Given the description of an element on the screen output the (x, y) to click on. 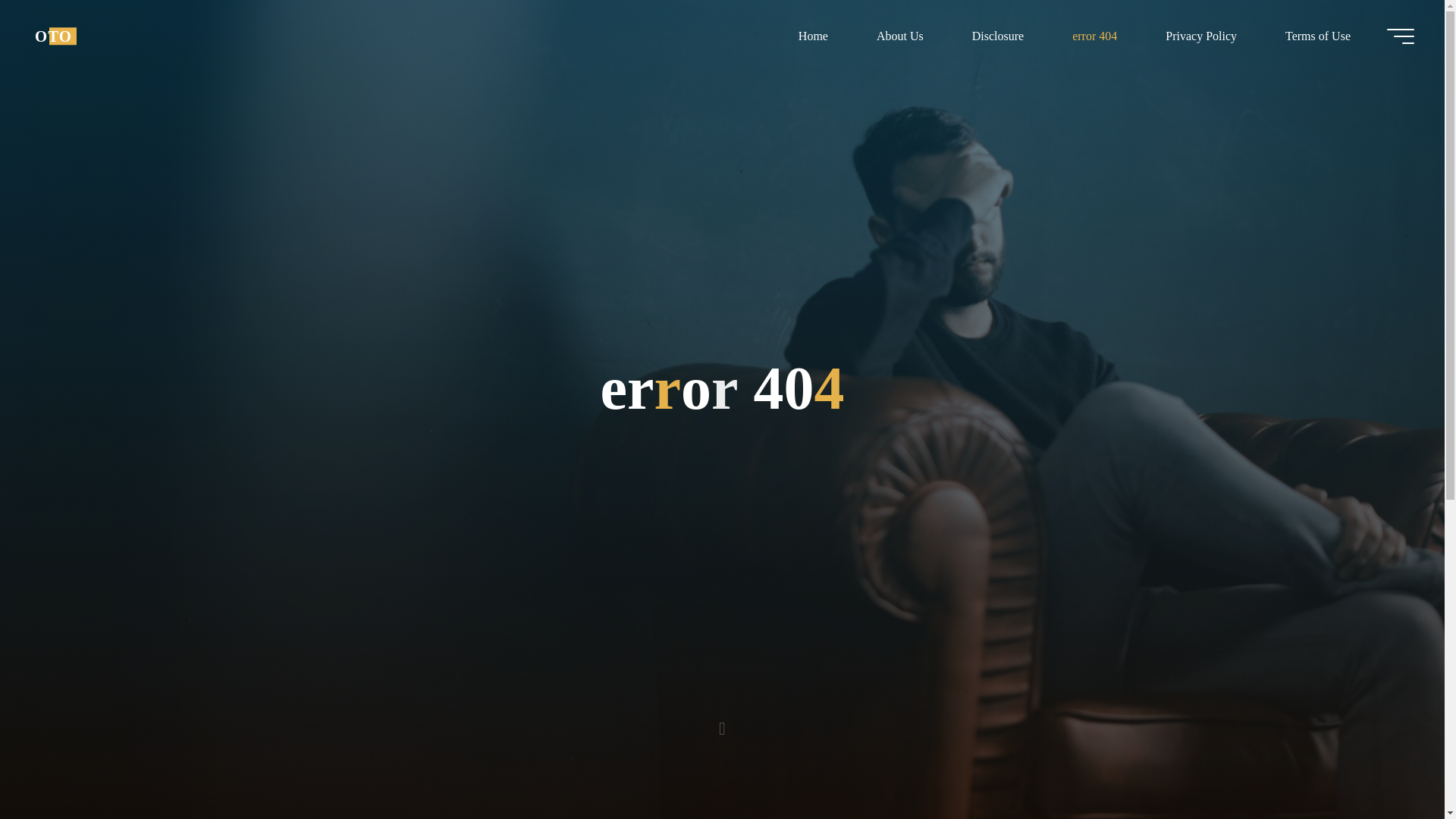
About Us (899, 35)
error 404 (1094, 35)
Home (812, 35)
Read more (721, 724)
Disclosure (997, 35)
OTO (53, 36)
Privacy Policy (1200, 35)
Terms of Use (1317, 35)
